Given the description of an element on the screen output the (x, y) to click on. 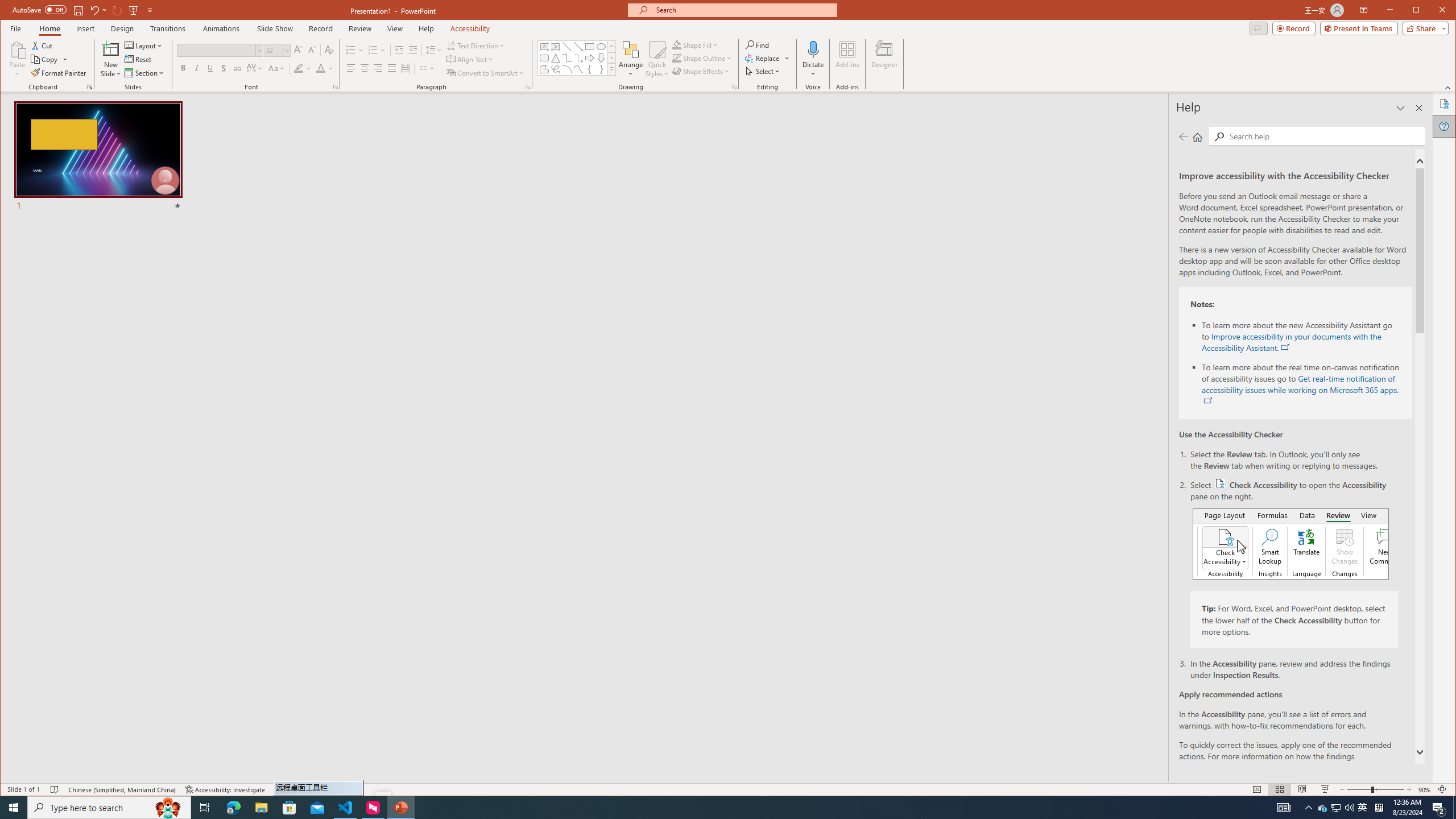
Shadow (224, 68)
Freeform: Scribble (556, 69)
Align Text (470, 59)
Shape Effects (702, 70)
Running applications (700, 807)
File Explorer (261, 807)
